Given the description of an element on the screen output the (x, y) to click on. 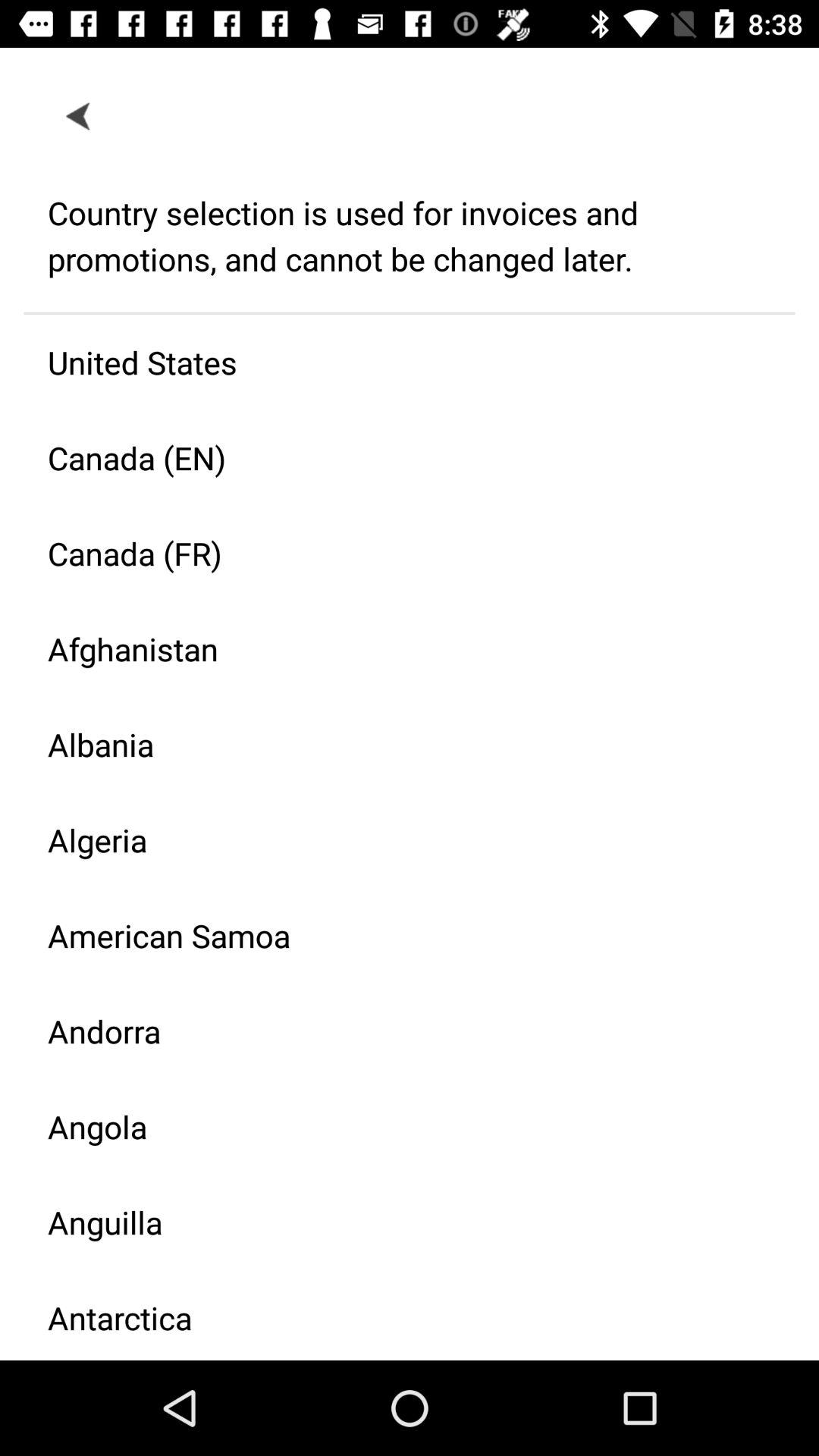
turn on the item above american samoa (397, 839)
